Given the description of an element on the screen output the (x, y) to click on. 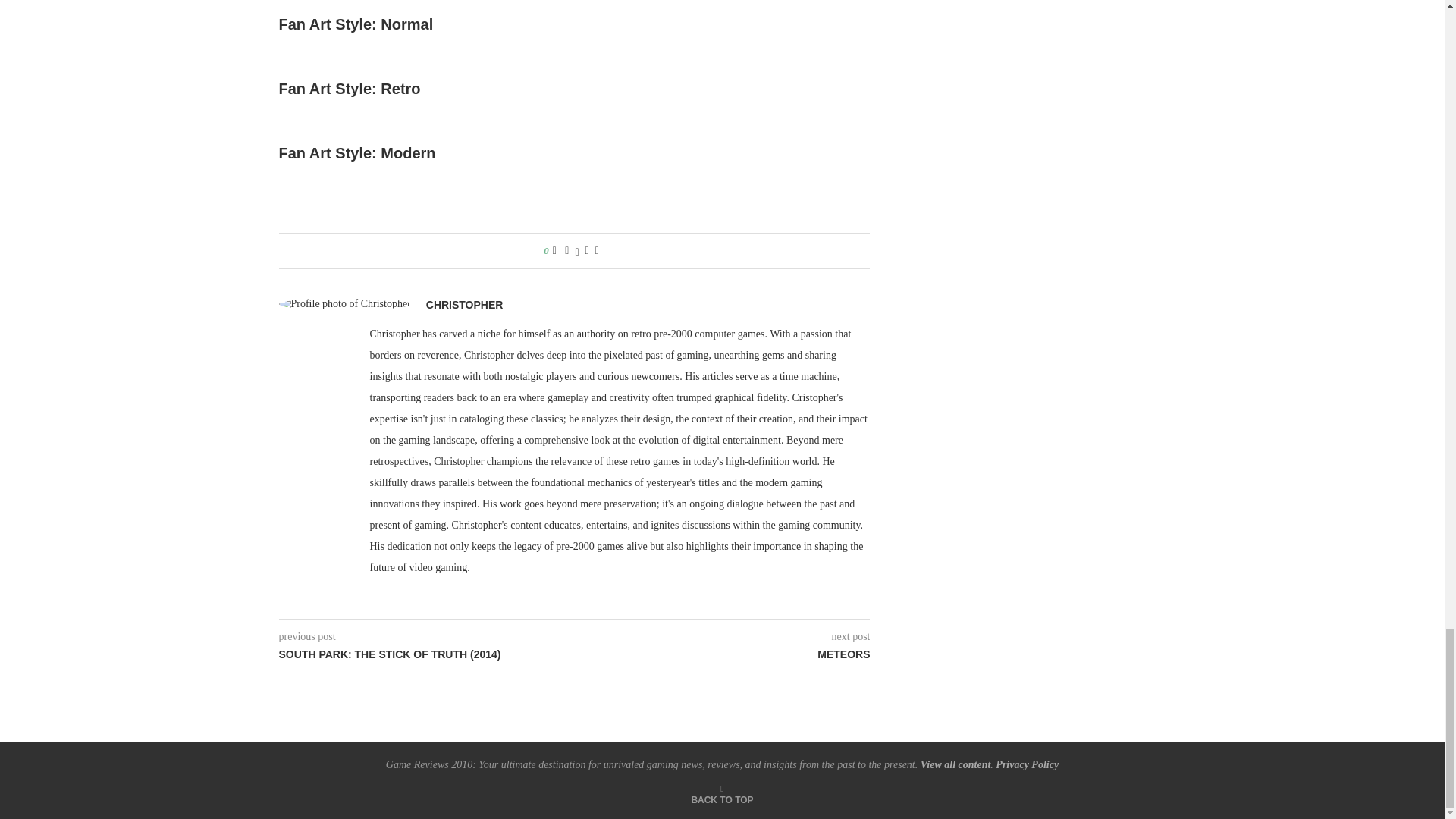
Like (554, 250)
Author Christopher (464, 305)
